Given the description of an element on the screen output the (x, y) to click on. 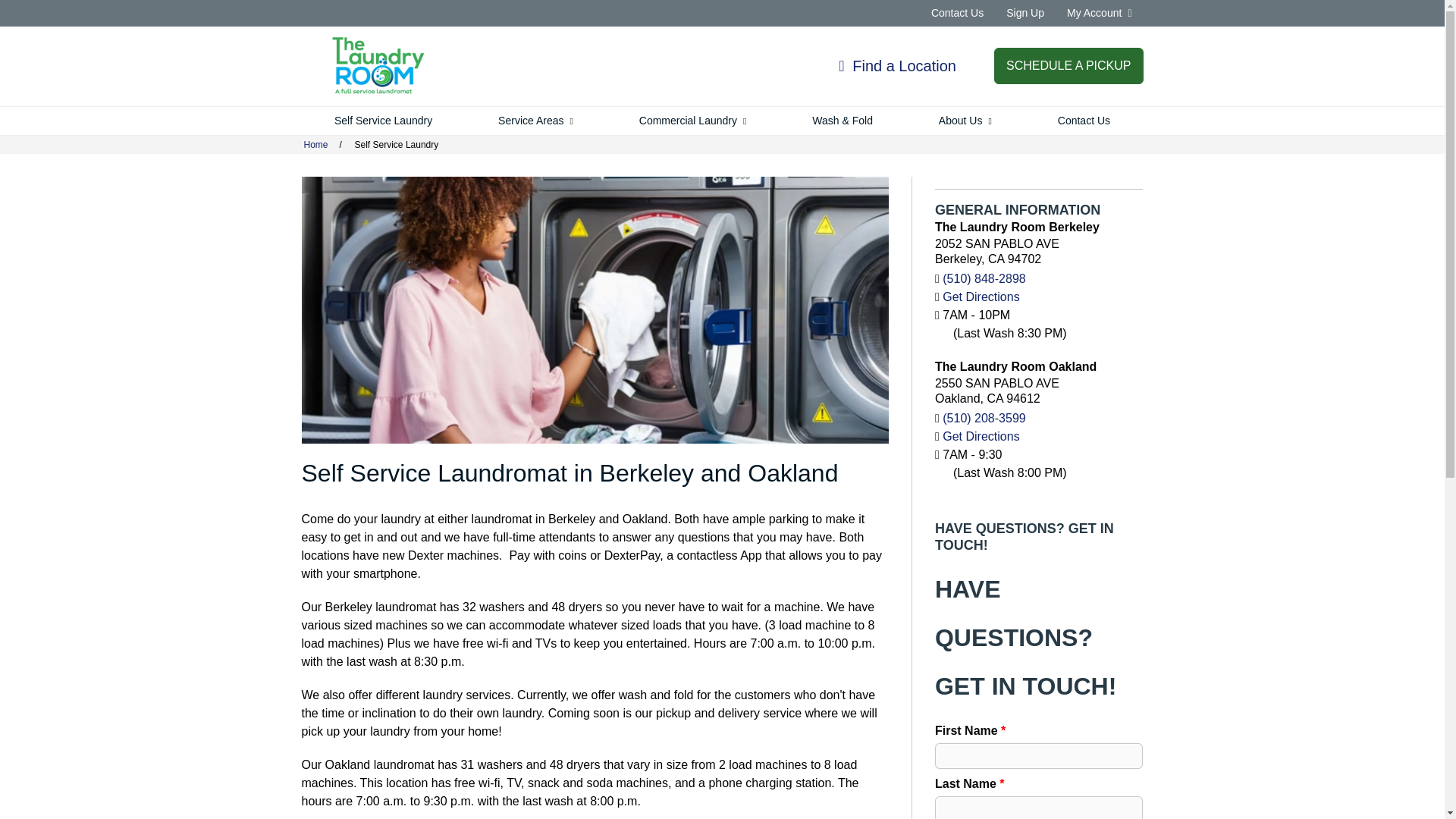
Self Service Laundry (383, 121)
SCHEDULE A PICKUP (1068, 65)
Find a Location (897, 65)
Home (377, 66)
Schedule a Pickup (1068, 65)
Find a Location (897, 65)
Self Service Laundry (383, 121)
My Account (1099, 12)
Sign Up (1024, 12)
Contact Us (957, 12)
Sign Up (1024, 12)
Contact Us (957, 12)
My Account (1099, 12)
